Given the description of an element on the screen output the (x, y) to click on. 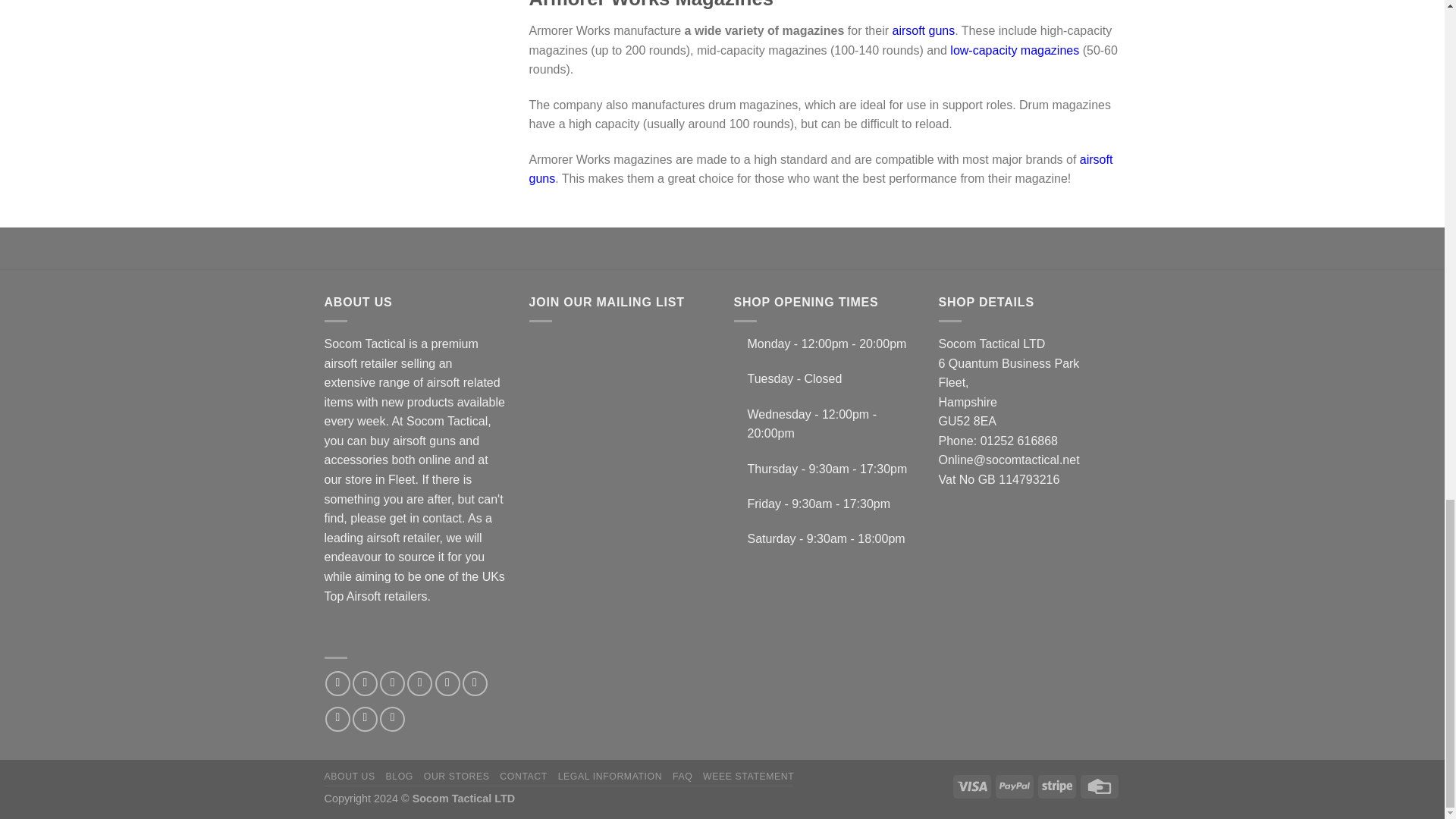
Follow on Facebook (337, 683)
Follow on Instagram (364, 683)
Follow on Pinterest (337, 719)
Follow on TikTok (392, 683)
Follow on YouTube (392, 719)
Follow on LinkedIn (364, 719)
Send us an email (447, 683)
Call us (475, 683)
Follow on Twitter (419, 683)
